Given the description of an element on the screen output the (x, y) to click on. 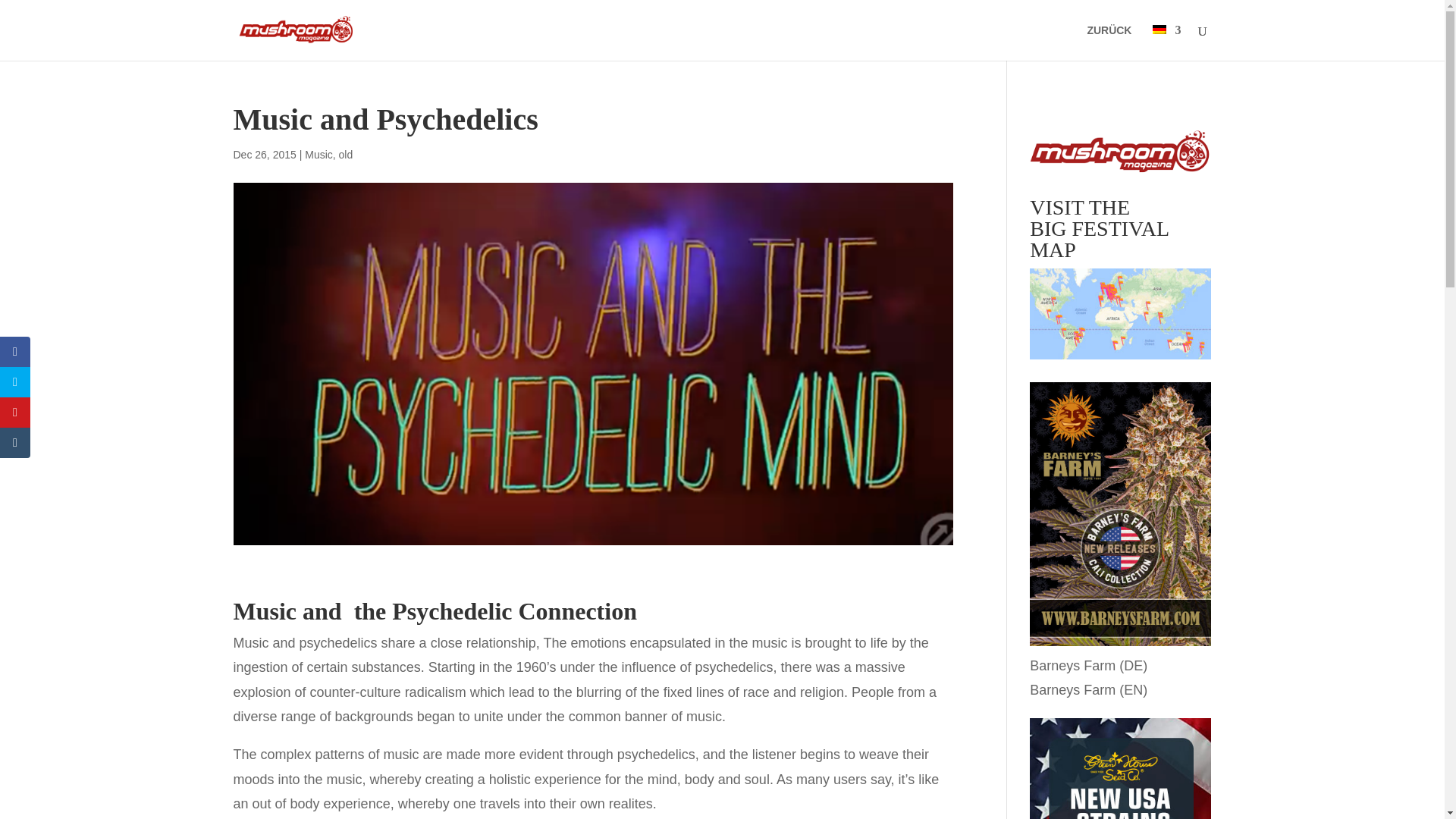
Music (318, 154)
old (346, 154)
